Given the description of an element on the screen output the (x, y) to click on. 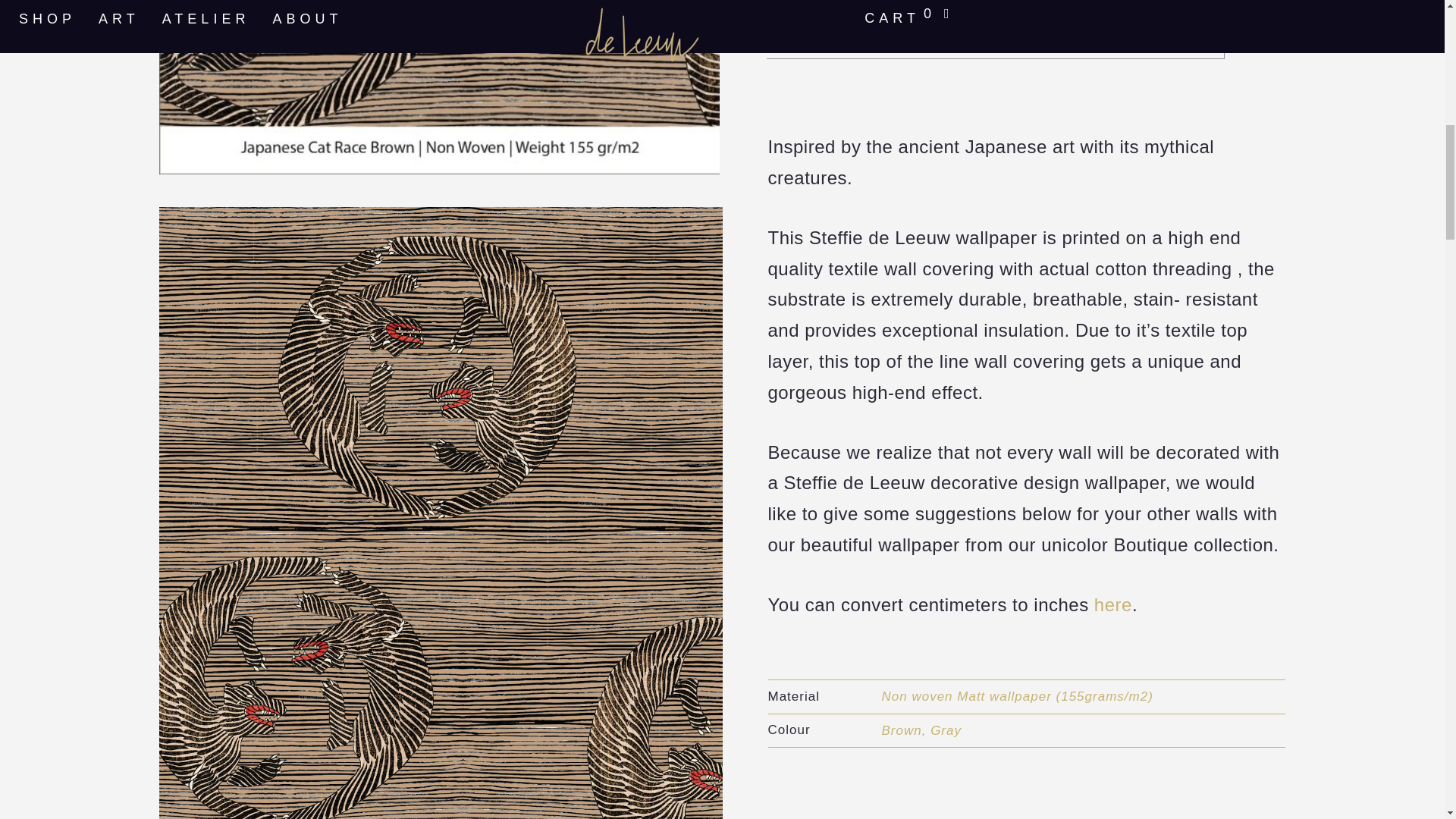
1 (796, 3)
here (1113, 604)
ADD TO CART (994, 31)
